Given the description of an element on the screen output the (x, y) to click on. 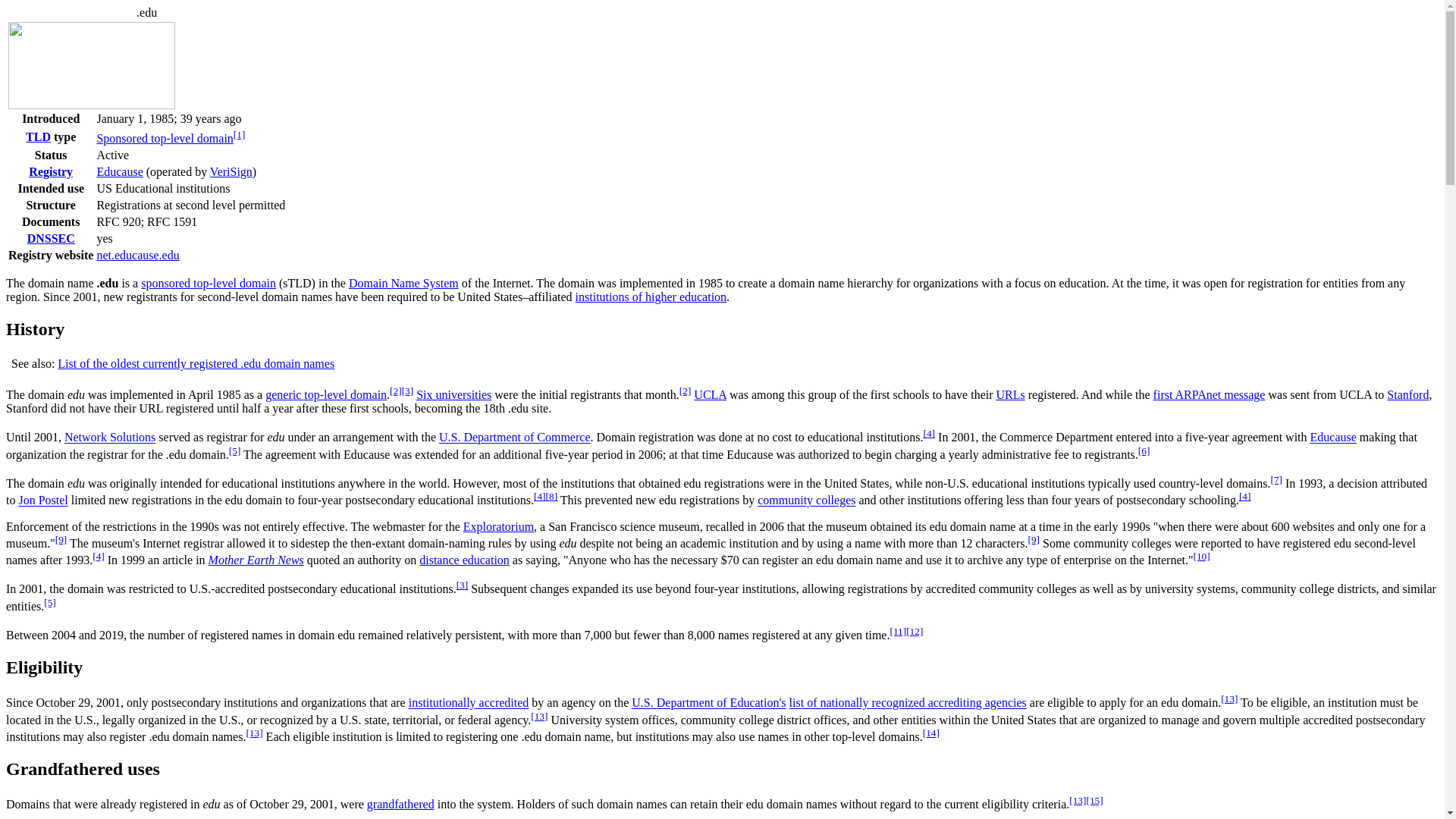
URL (1010, 394)
Educause (1333, 437)
Educause (1333, 437)
Domain Name System (403, 282)
generic top-level domain (325, 394)
first ARPAnet message (1209, 394)
Jon Postel (41, 500)
Educause (119, 171)
UCLA (710, 394)
Domain Name System (403, 282)
Network Solutions (109, 437)
institutions of higher education (650, 296)
Network Solutions (109, 437)
U.S. Department of Commerce (515, 437)
